Given the description of an element on the screen output the (x, y) to click on. 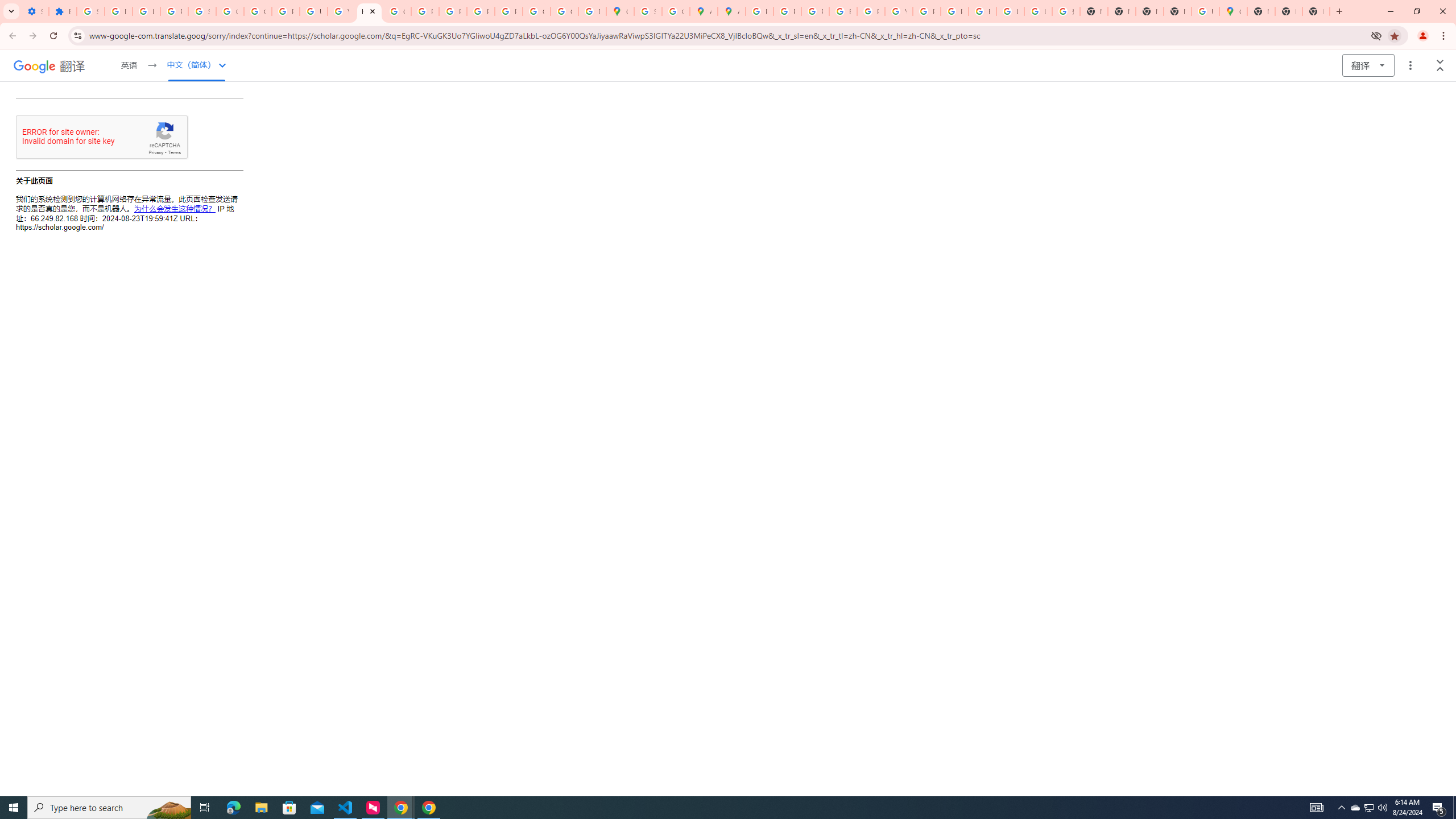
Sign in - Google Accounts (90, 11)
Terms (174, 152)
Google (34, 65)
Sign in - Google Accounts (202, 11)
New Tab (1316, 11)
Delete photos & videos - Computer - Google Photos Help (118, 11)
Use Google Maps in Space - Google Maps Help (1205, 11)
